Given the description of an element on the screen output the (x, y) to click on. 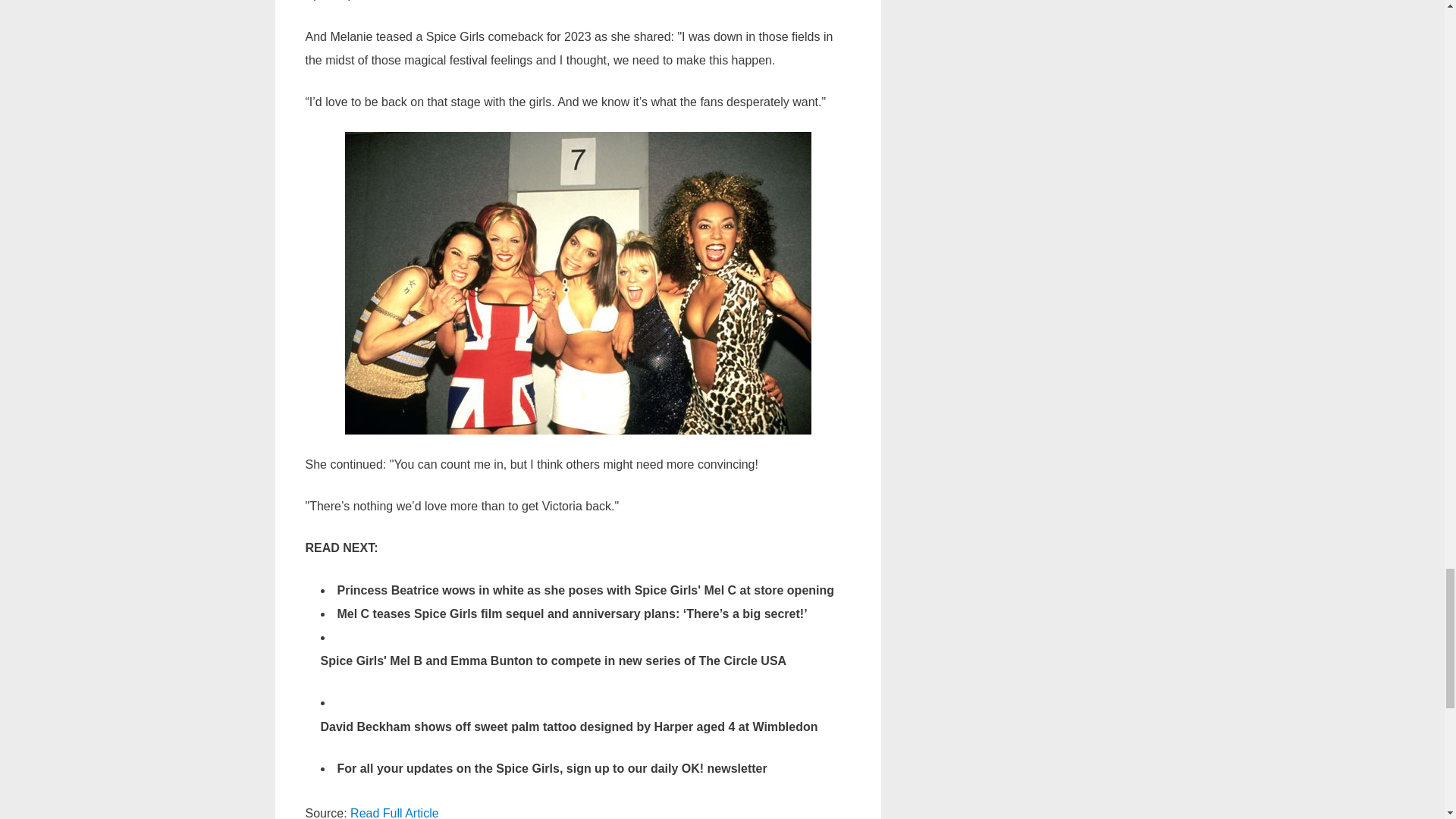
Read Full Article (394, 812)
